Given the description of an element on the screen output the (x, y) to click on. 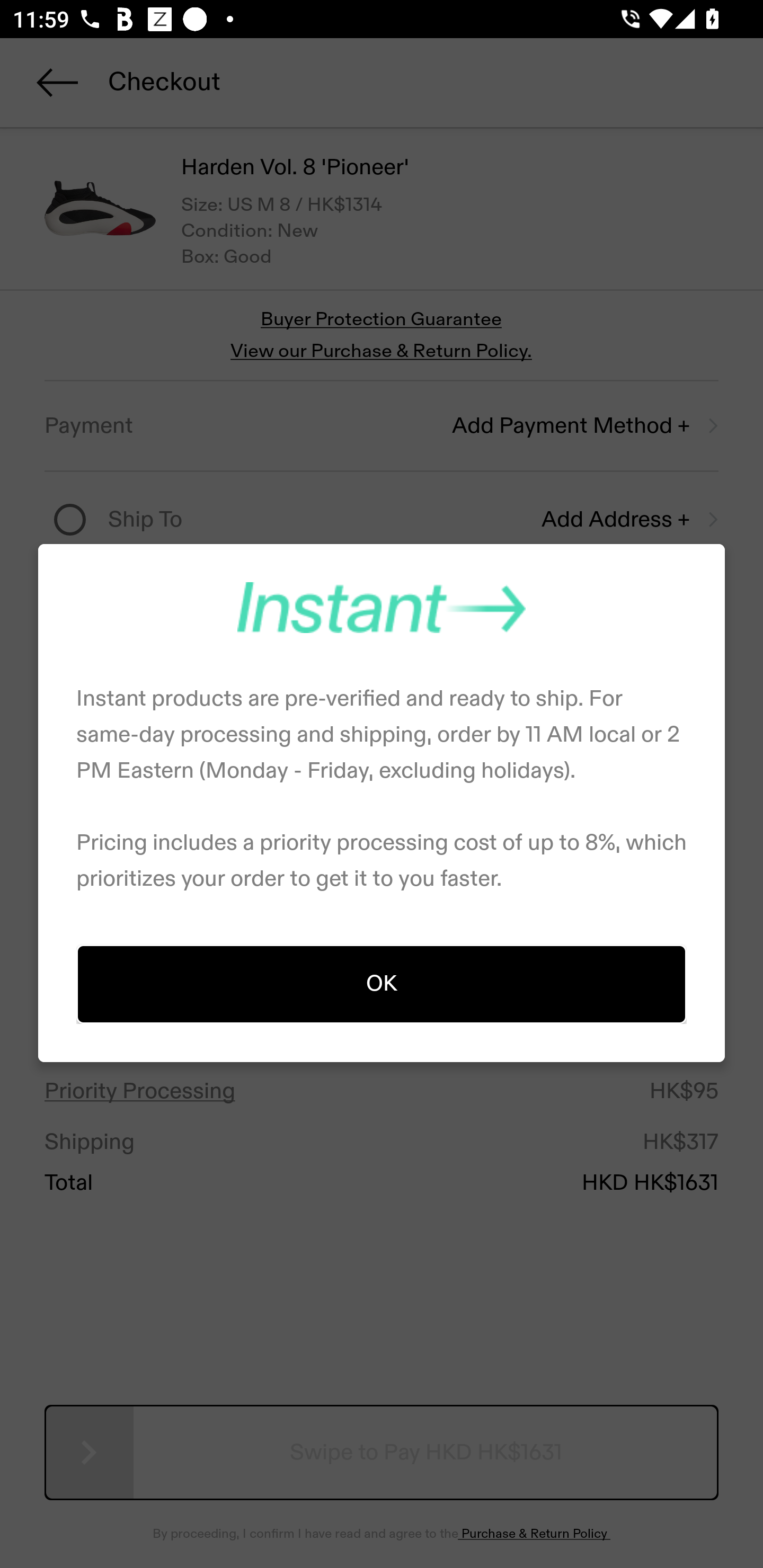
OK (381, 983)
